Given the description of an element on the screen output the (x, y) to click on. 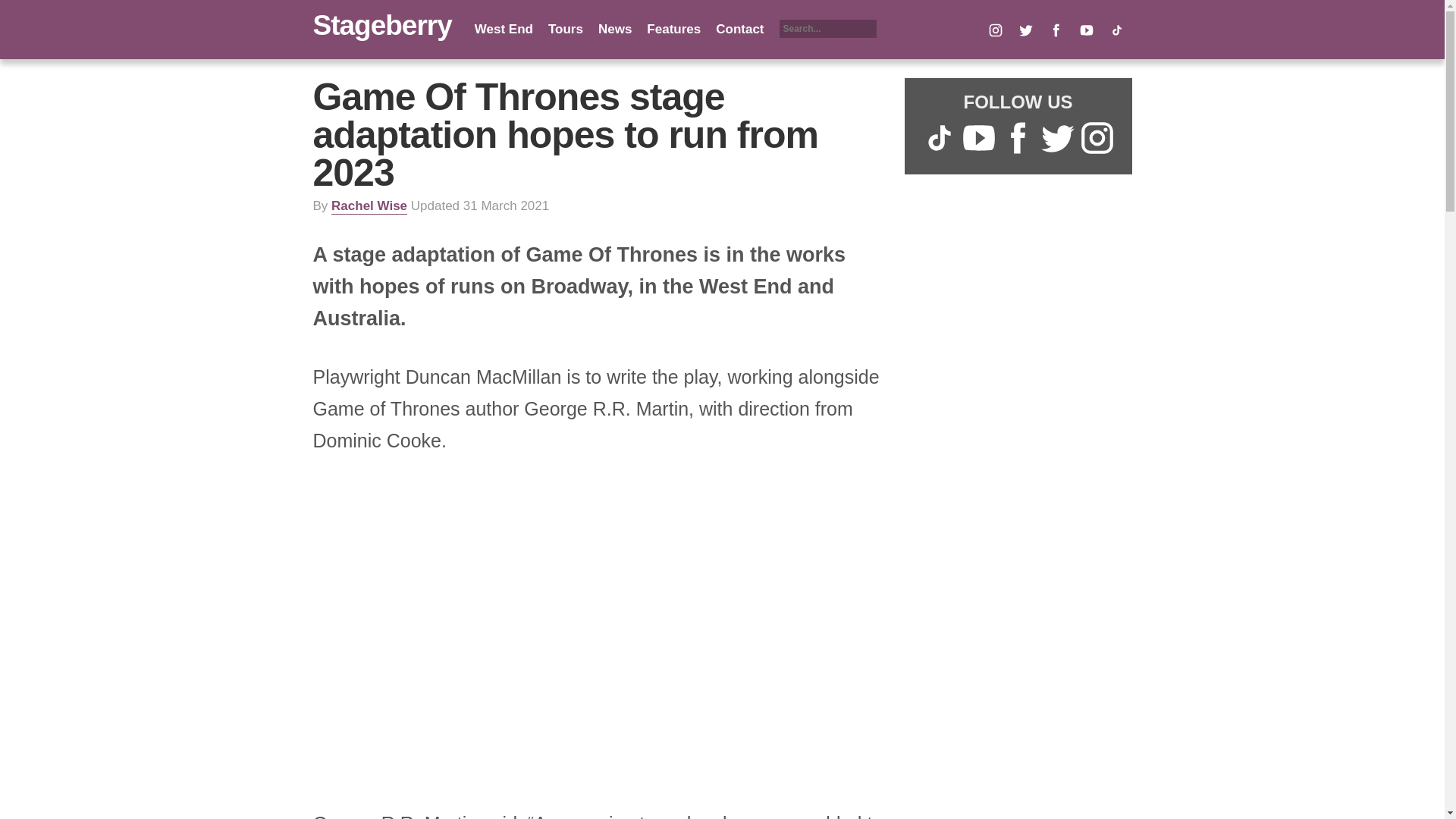
West End (503, 29)
Features (673, 29)
Rachel Wise (369, 205)
Tours (565, 29)
Contact (739, 29)
News (614, 29)
Stageberry (382, 25)
